Given the description of an element on the screen output the (x, y) to click on. 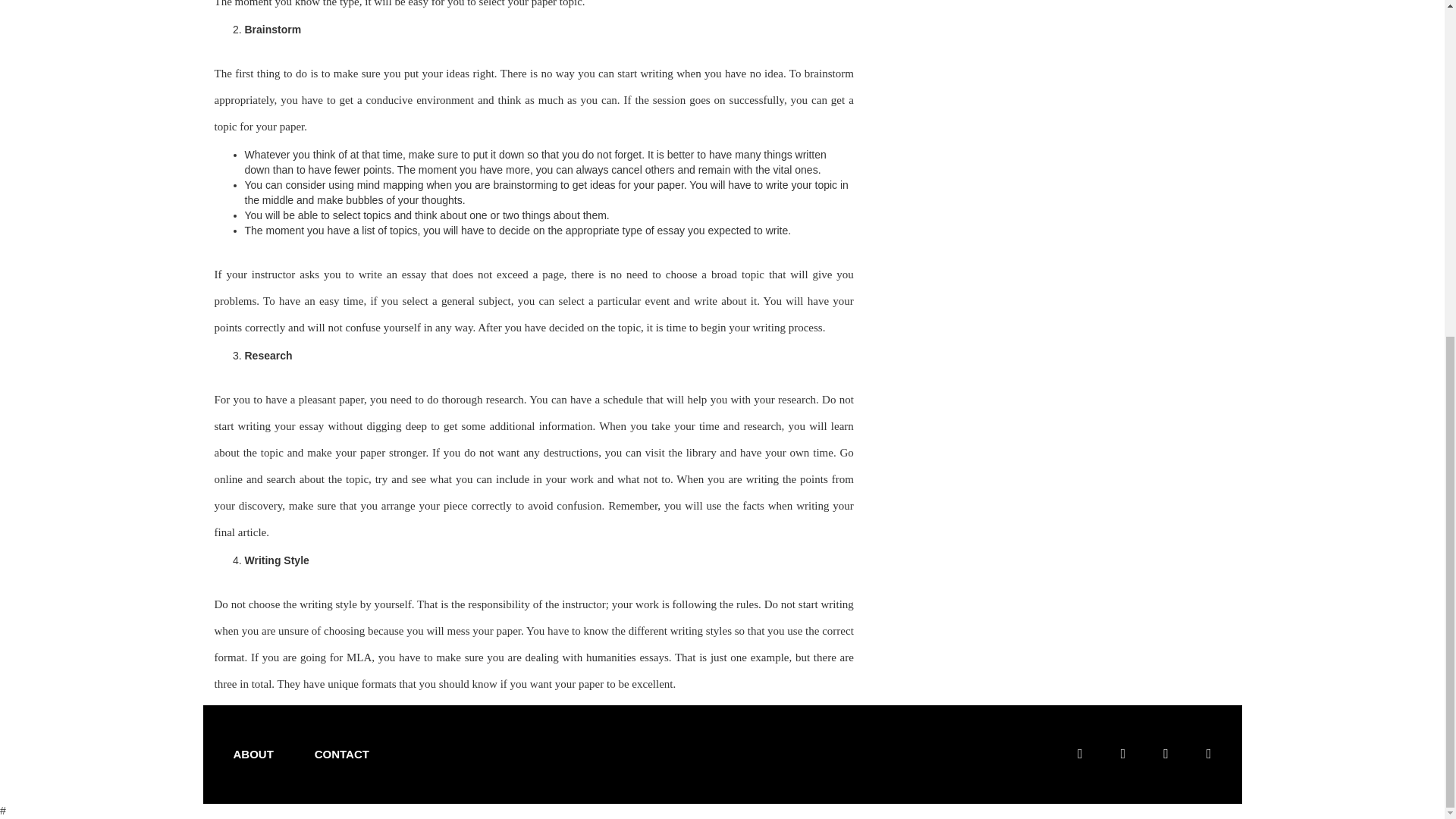
CONTACT (345, 754)
ABOUT (256, 754)
